Given the description of an element on the screen output the (x, y) to click on. 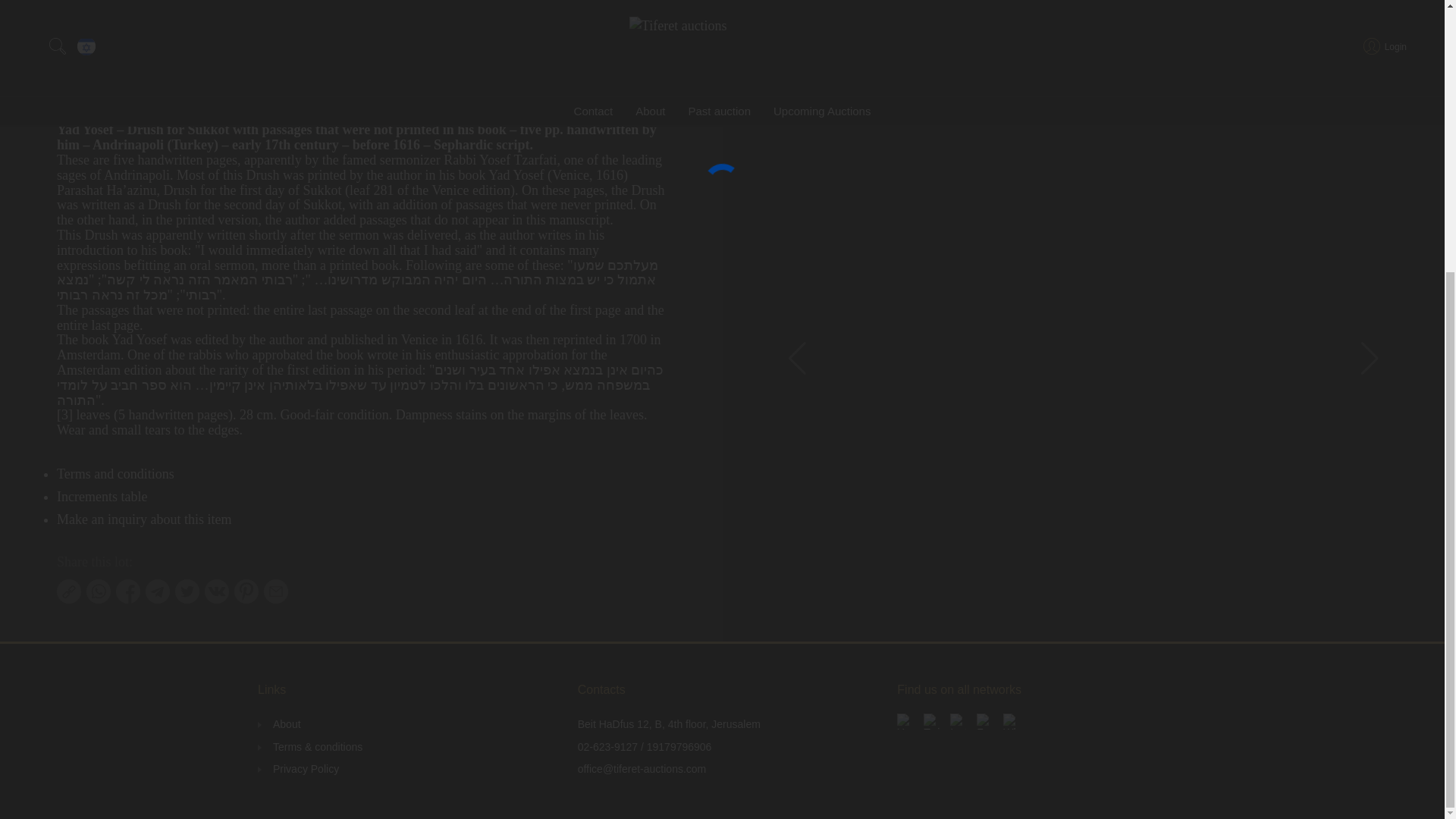
Facebook (984, 721)
Youtube (904, 721)
WhatsApp (1011, 721)
Contact Us (603, 42)
Increments table (101, 496)
Privacy Policy (294, 769)
Terms and conditions (115, 473)
Twitter (931, 721)
Instagram (958, 721)
About (275, 724)
